Given the description of an element on the screen output the (x, y) to click on. 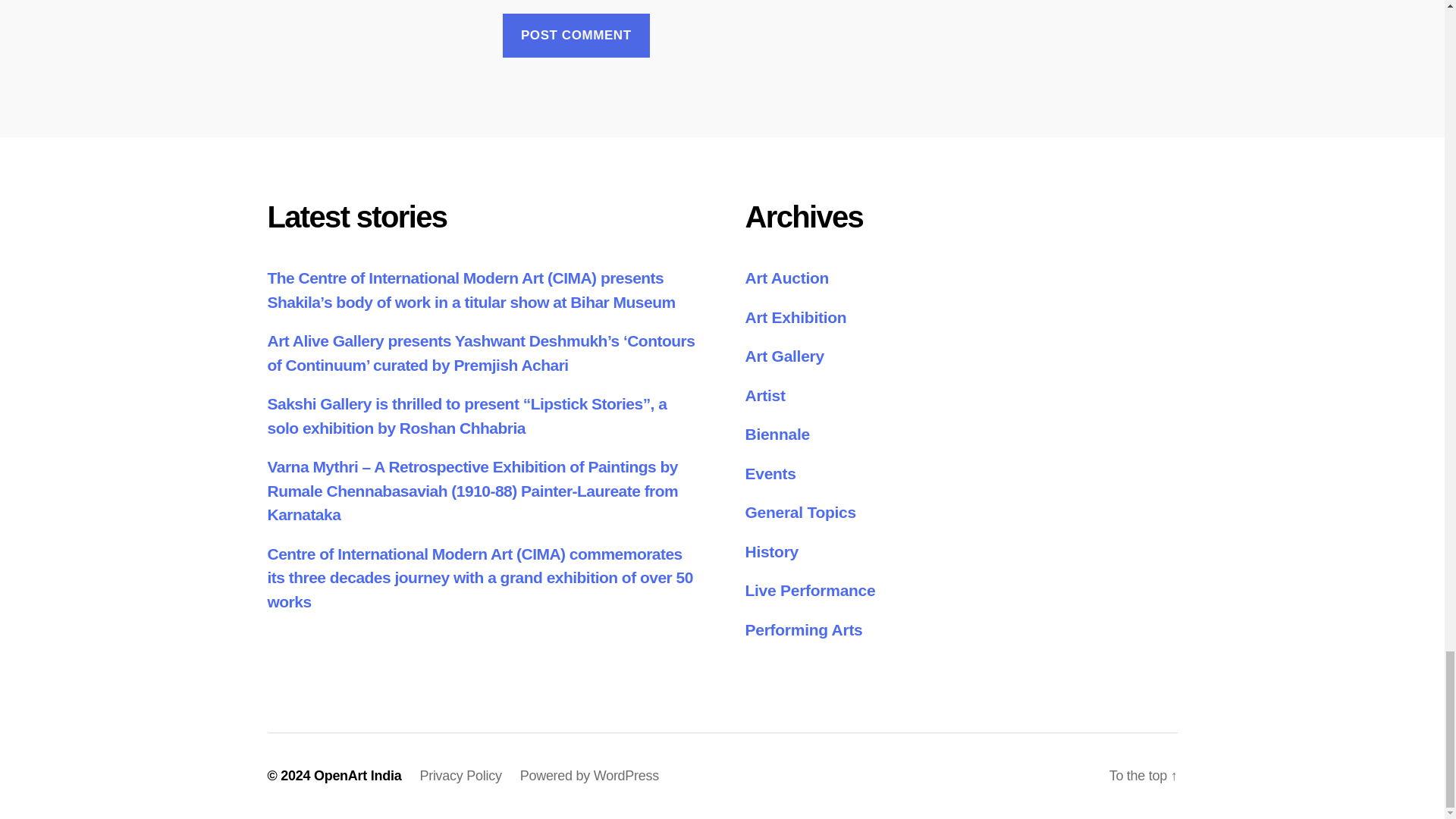
Post Comment (575, 35)
Post Comment (575, 35)
